Given the description of an element on the screen output the (x, y) to click on. 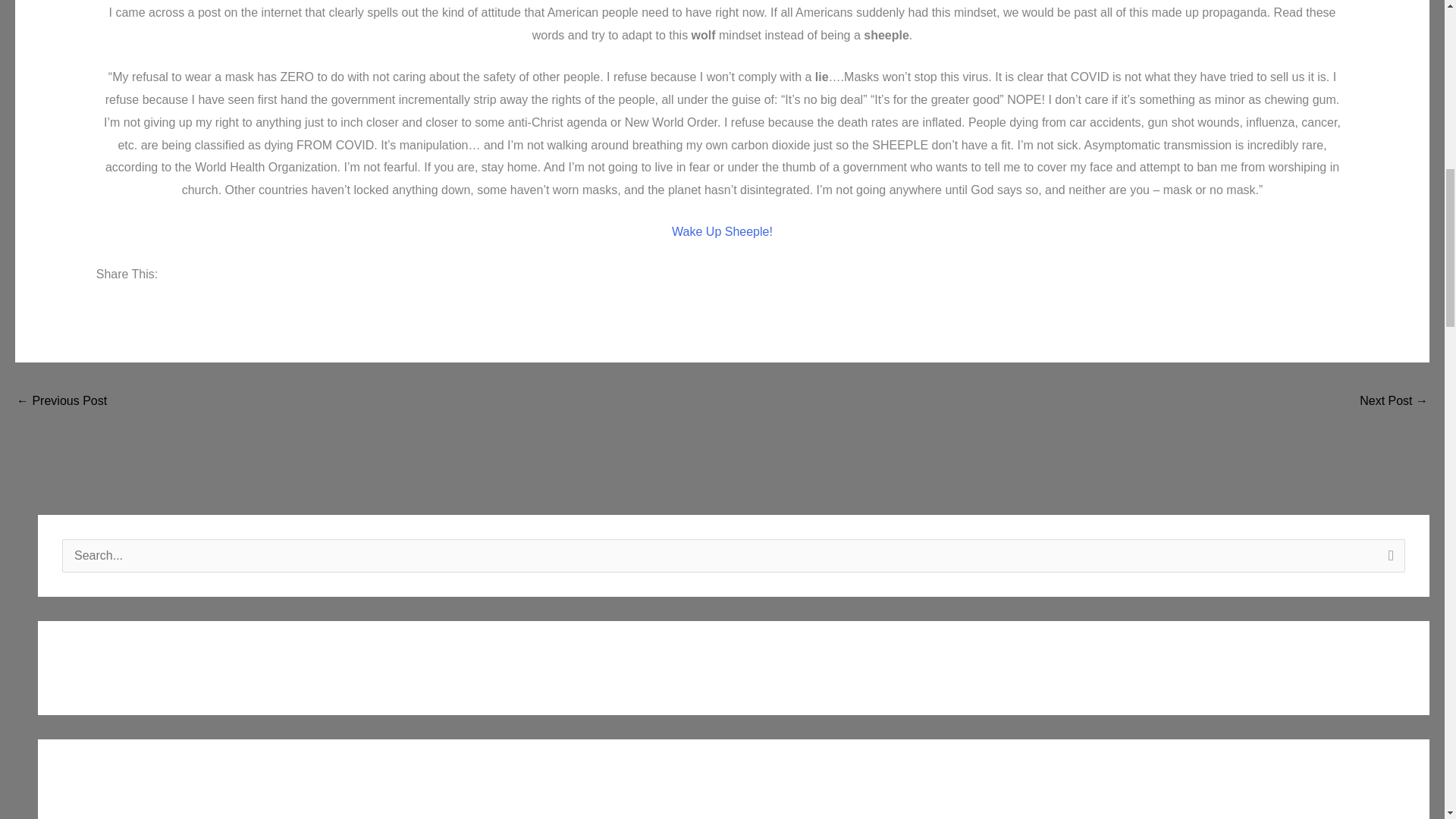
The Retail Sheeple Insanity... (61, 402)
Wake Up Sheeple! (722, 231)
What's Really Going On In Hospitals... (1393, 402)
